Given the description of an element on the screen output the (x, y) to click on. 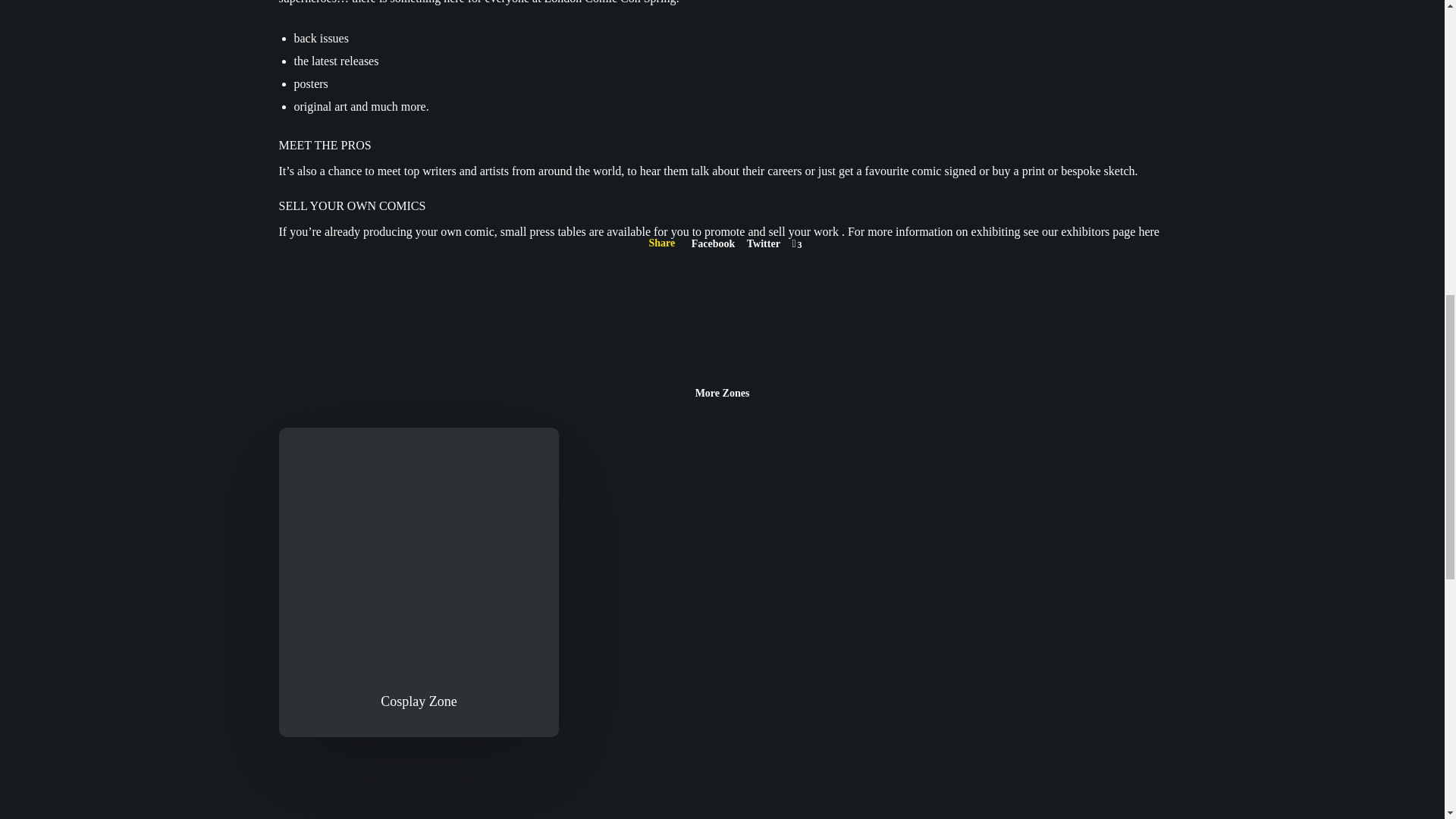
Comic Zone (763, 243)
Comic Zone (713, 243)
Facebook (713, 243)
Cosplay Zone (419, 582)
Twitter (763, 243)
